Given the description of an element on the screen output the (x, y) to click on. 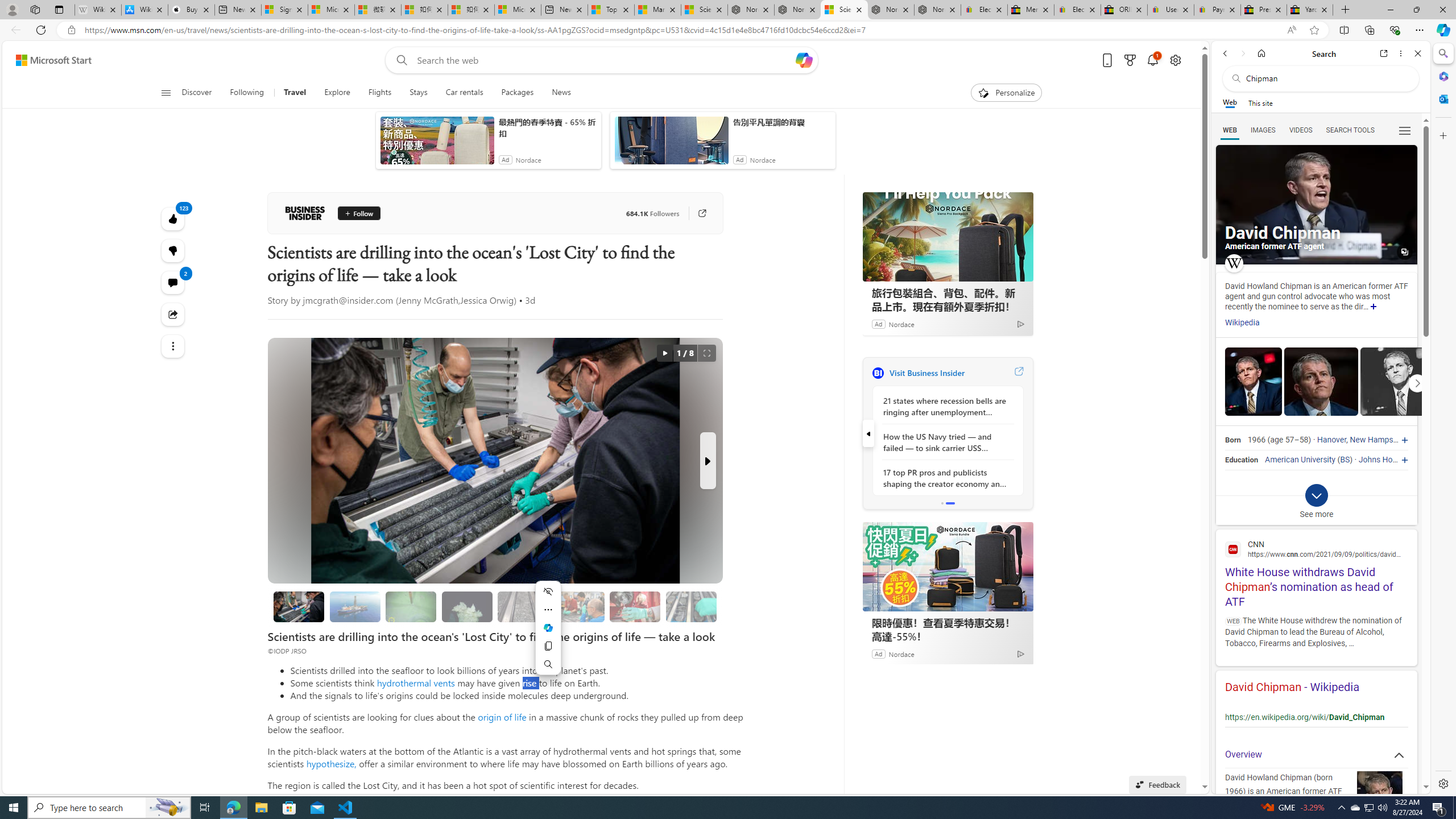
Wikipedia - Sleeping (97, 9)
Microsoft Services Agreement (330, 9)
Share this story (172, 314)
Education (1240, 459)
Dislike (172, 250)
Explore (337, 92)
Travel (294, 92)
origin of life (502, 716)
Stays (418, 92)
